Given the description of an element on the screen output the (x, y) to click on. 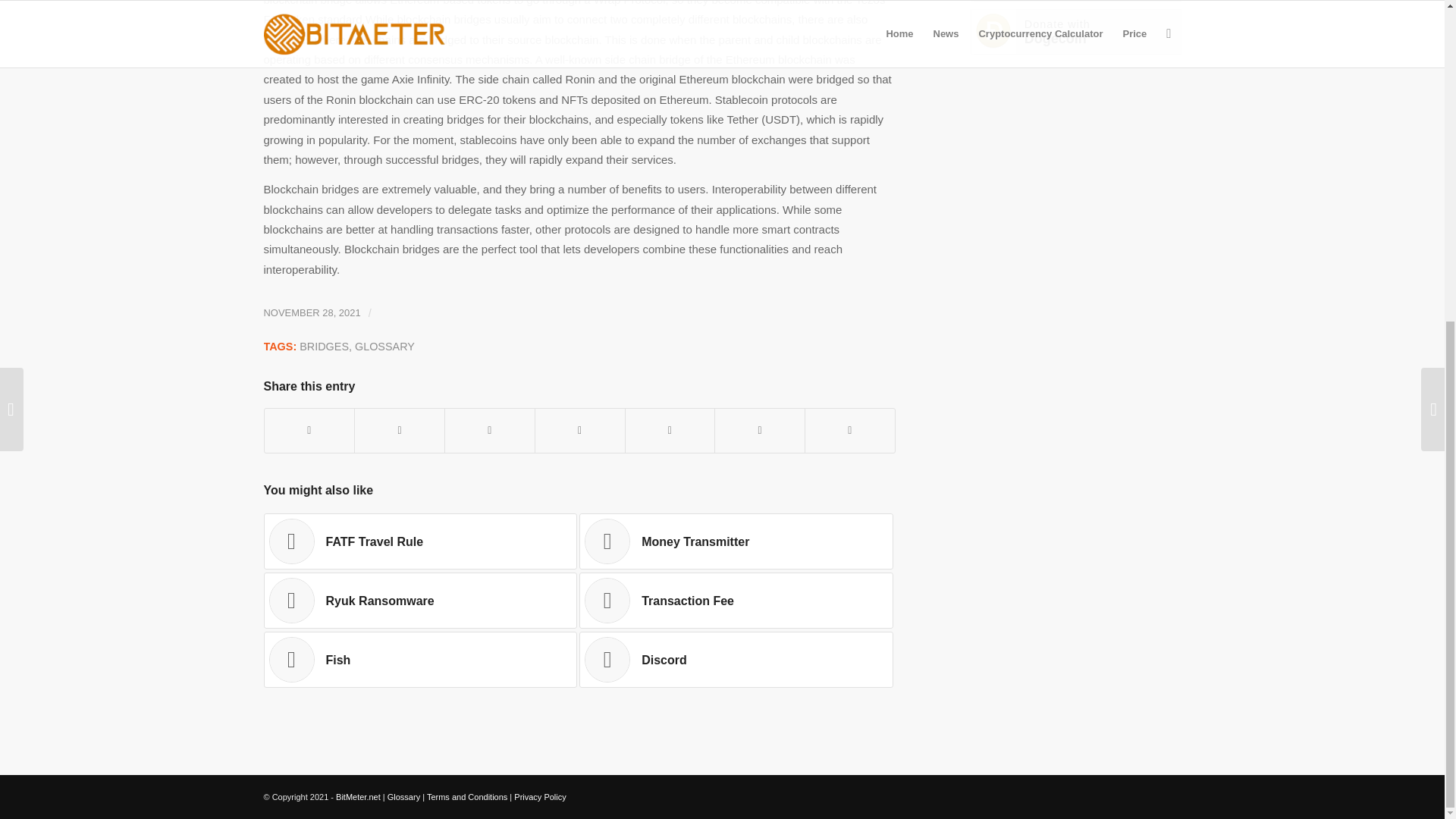
Discord (736, 659)
Transaction Fee (736, 600)
FATF Travel Rule (420, 541)
Ryuk Ransomware (420, 600)
Fish (420, 659)
Money Transmitter (736, 541)
FATF Travel Rule (420, 541)
BRIDGES (324, 346)
GLOSSARY (384, 346)
